Given the description of an element on the screen output the (x, y) to click on. 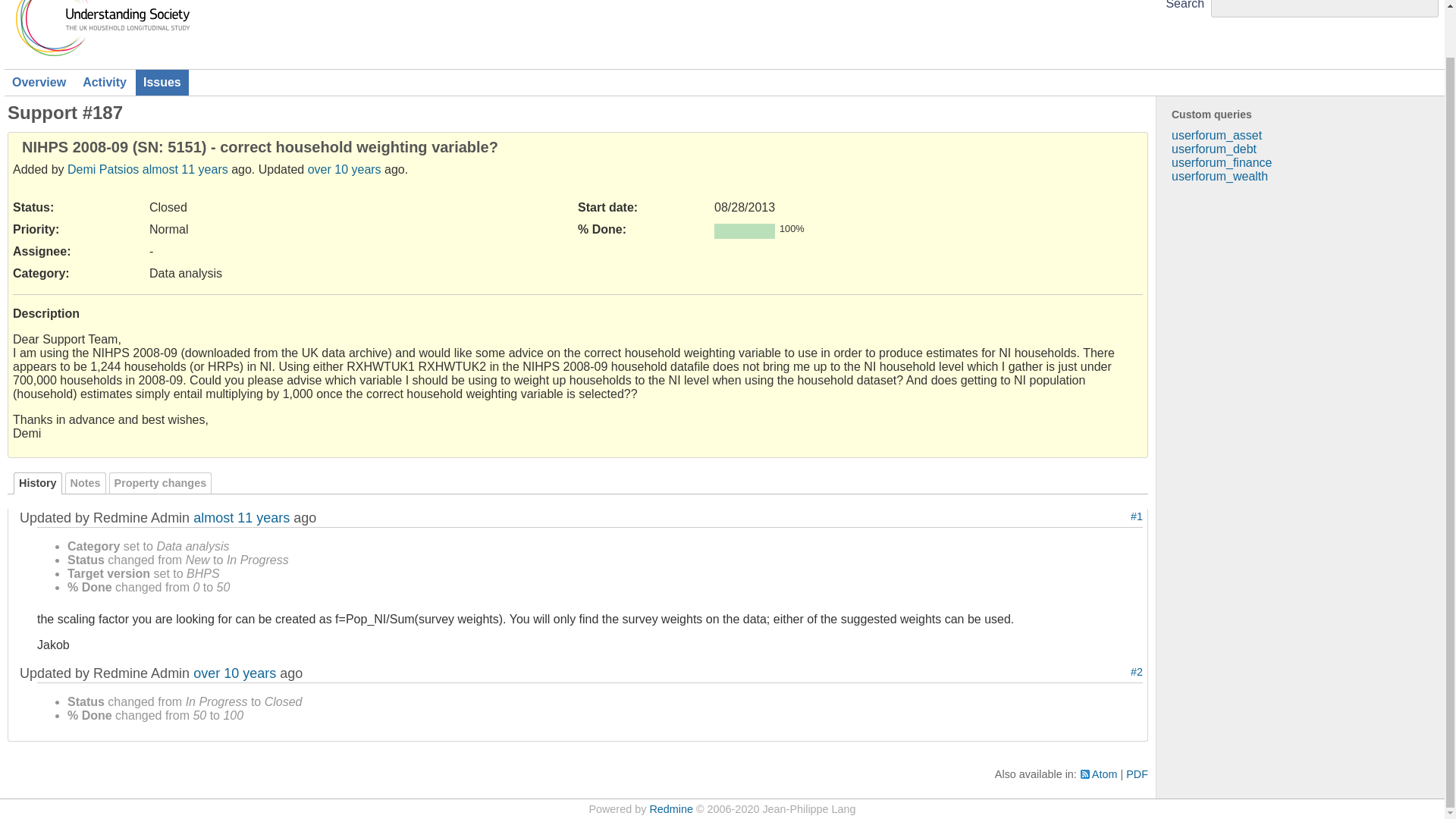
Search (1185, 4)
almost 11 years (241, 517)
almost 11 years (185, 169)
Activity (104, 82)
Demi Patsios (102, 169)
History (37, 483)
Notes (85, 483)
over 10 years (344, 169)
Redmine (671, 808)
Issues (162, 82)
PDF (1136, 774)
Property changes (160, 483)
over 10 years (234, 672)
Overview (39, 82)
Atom (1099, 774)
